Given the description of an element on the screen output the (x, y) to click on. 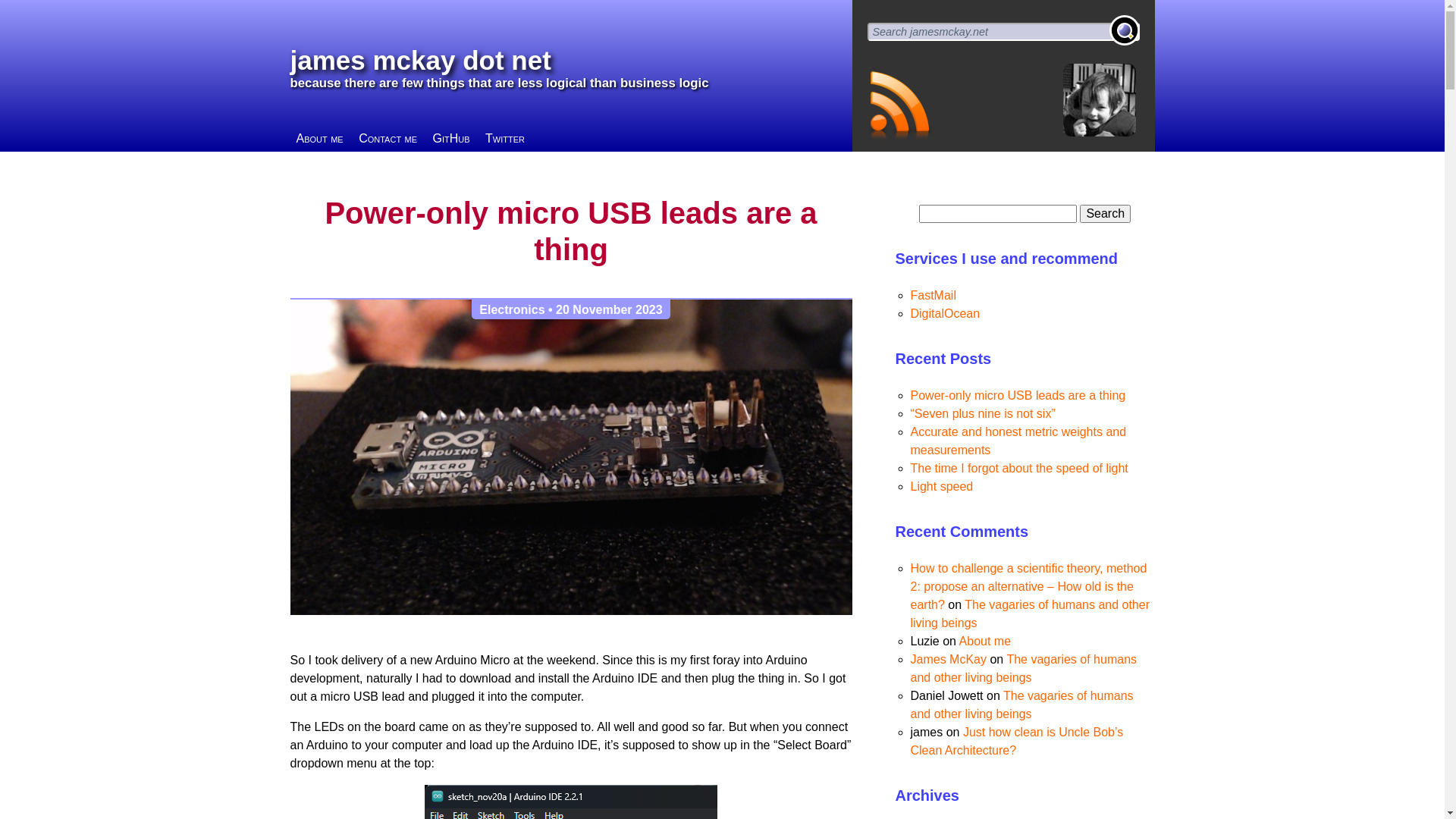
Power-only micro USB leads are a thing Element type: text (1017, 395)
Twitter Element type: text (504, 138)
Contact me Element type: text (387, 138)
The vagaries of humans and other living beings Element type: text (1021, 704)
DigitalOcean Element type: text (944, 313)
James McKay Element type: text (947, 658)
GitHub Element type: text (450, 138)
FastMail Element type: text (932, 294)
The time I forgot about the speed of light Element type: text (1018, 467)
About me Element type: text (318, 138)
The vagaries of humans and other living beings Element type: text (1023, 668)
About me Element type: text (984, 640)
RSS feed for jamesmckay.net Element type: hover (894, 105)
Accurate and honest metric weights and measurements Element type: text (1018, 440)
james mckay dot net Element type: text (419, 60)
The vagaries of humans and other living beings Element type: text (1029, 613)
Power-only micro USB leads are a thing Element type: text (570, 231)
Electronics Element type: text (511, 309)
Search Element type: text (1104, 213)
Light speed Element type: text (941, 486)
